Given the description of an element on the screen output the (x, y) to click on. 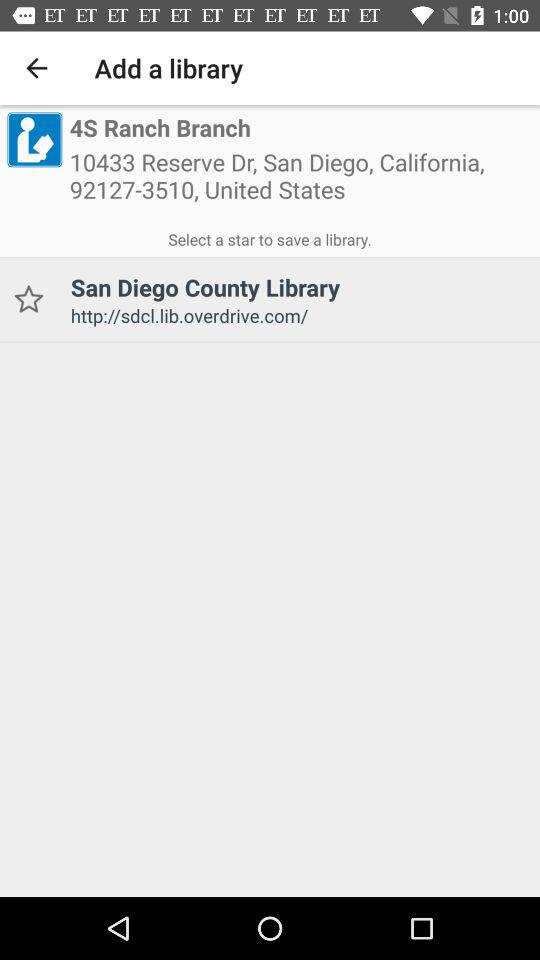
launch icon to the left of the 4s ranch branch item (34, 139)
